Given the description of an element on the screen output the (x, y) to click on. 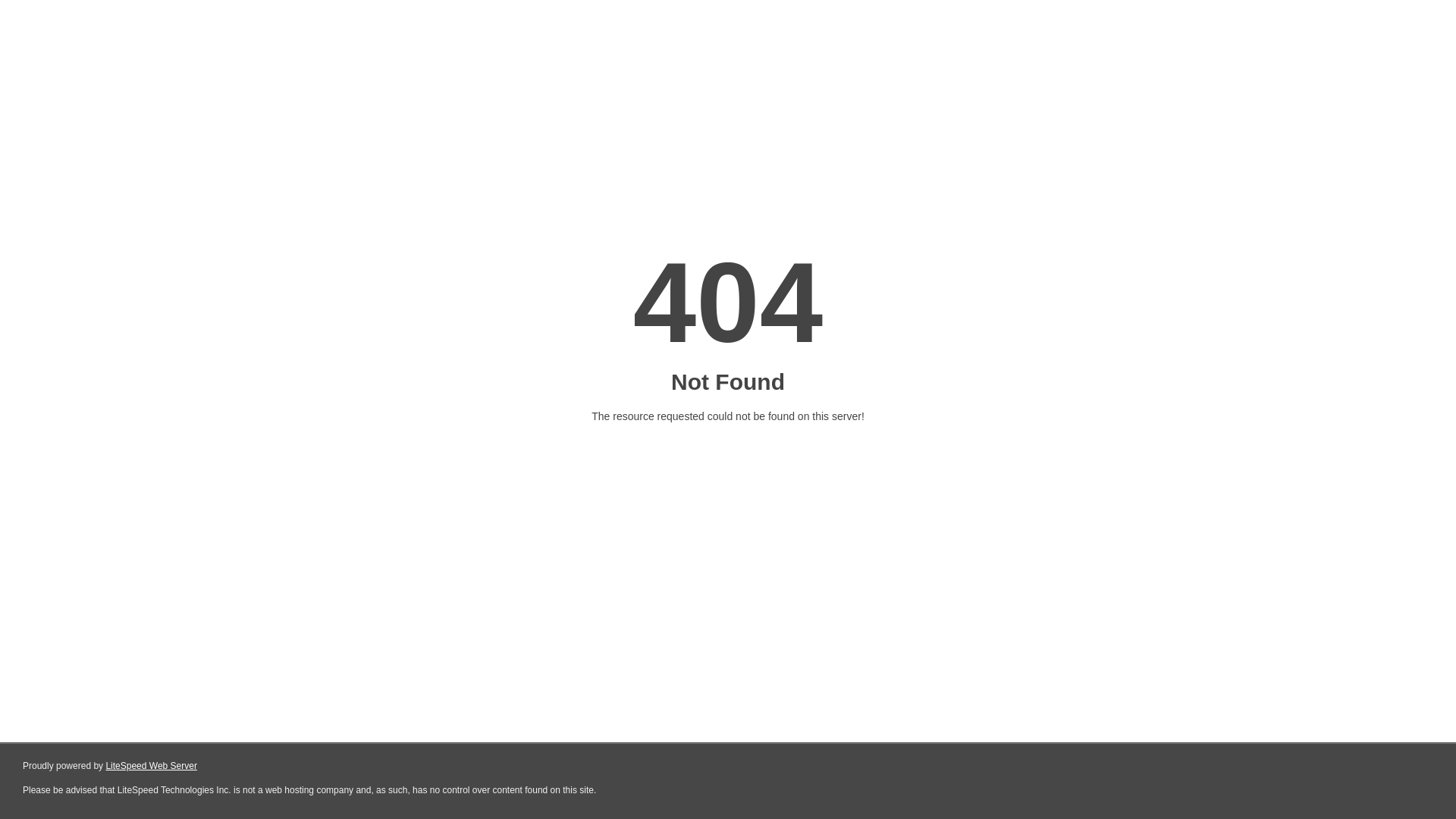
LiteSpeed Web Server Element type: text (151, 765)
